Given the description of an element on the screen output the (x, y) to click on. 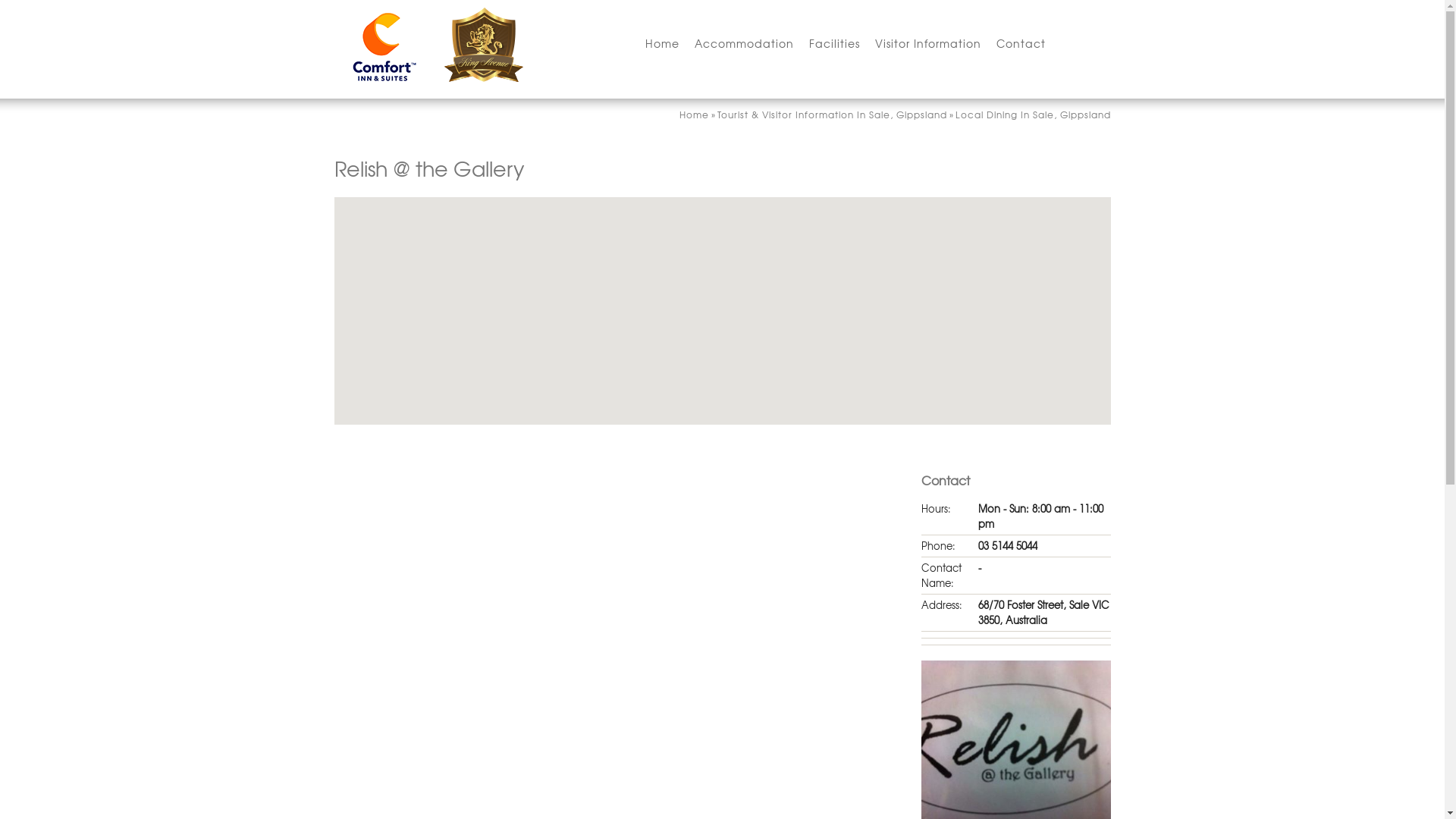
Home Element type: text (694, 114)
Contact Element type: text (1020, 51)
Local Dining In Sale, Gippsland Element type: text (1032, 114)
Comfort Inn and Suites King Avenue Element type: hover (431, 45)
Home Element type: text (661, 51)
Accommodation Element type: text (744, 51)
Facilities Element type: text (833, 51)
Visitor Information Element type: text (927, 51)
Tourist & Visitor Information In Sale, Gippsland Element type: text (832, 114)
